Given the description of an element on the screen output the (x, y) to click on. 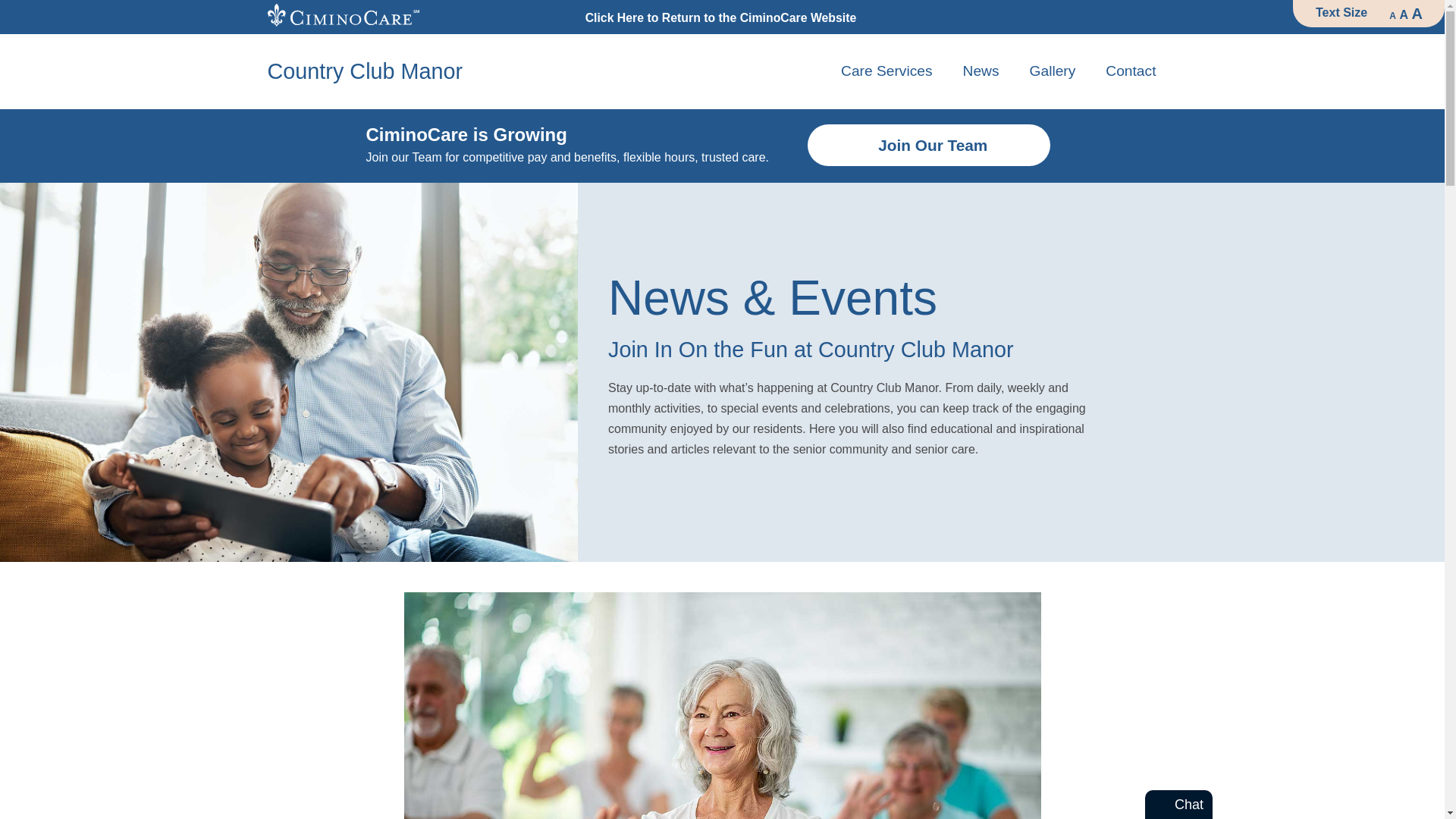
Care Services (886, 71)
Contact (1130, 71)
Gallery (1052, 71)
Click Here to Return to the CiminoCare Website (721, 17)
Join Our Team (928, 145)
News (980, 71)
Country Club Manor (364, 70)
